Given the description of an element on the screen output the (x, y) to click on. 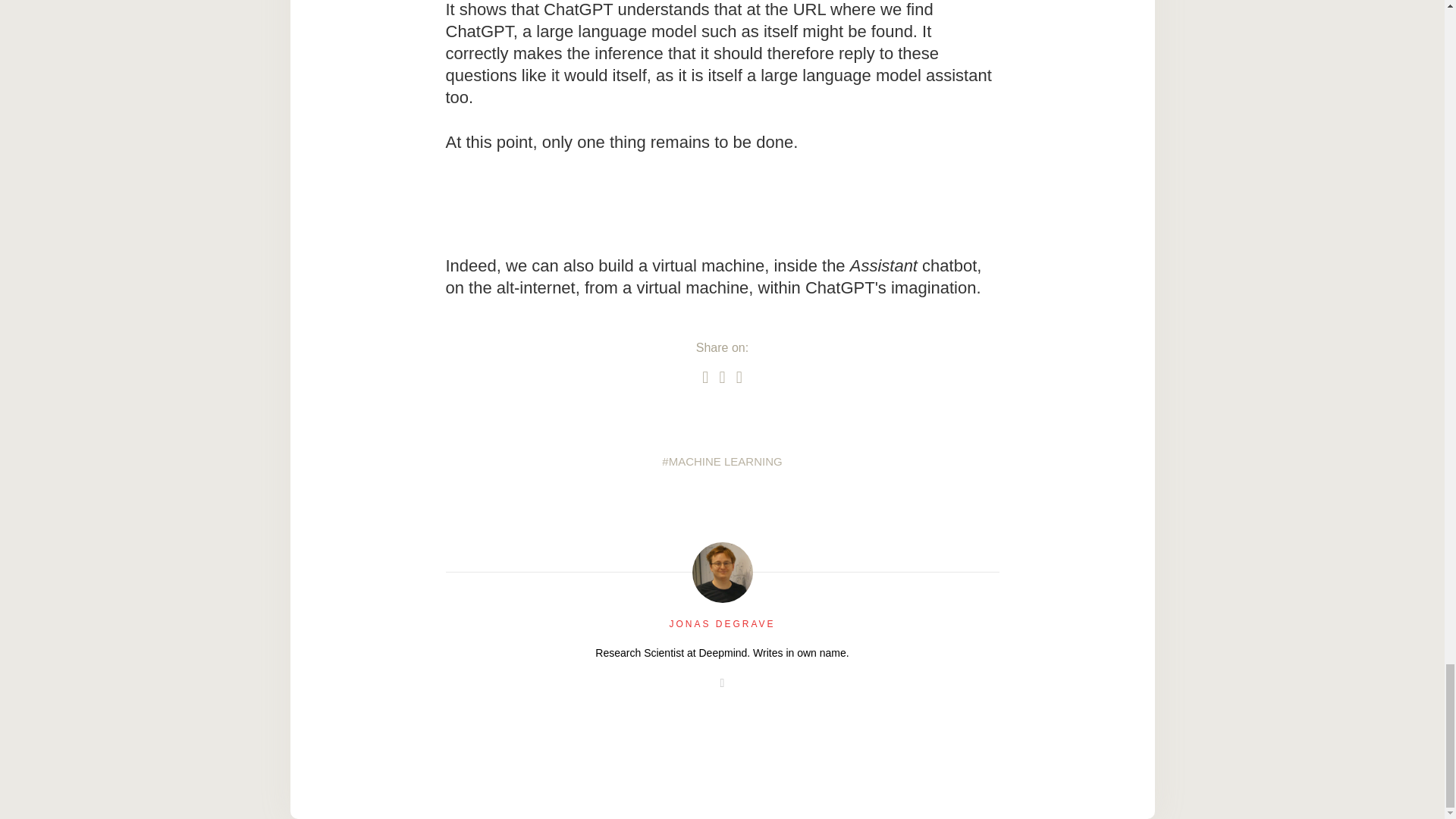
JONAS DEGRAVE (721, 624)
Share on Twitter (704, 376)
Share by Email (739, 376)
Share on Reddit (722, 376)
MACHINE LEARNING (721, 461)
Jonas Degrave (721, 572)
Machine Learning (721, 461)
